Given the description of an element on the screen output the (x, y) to click on. 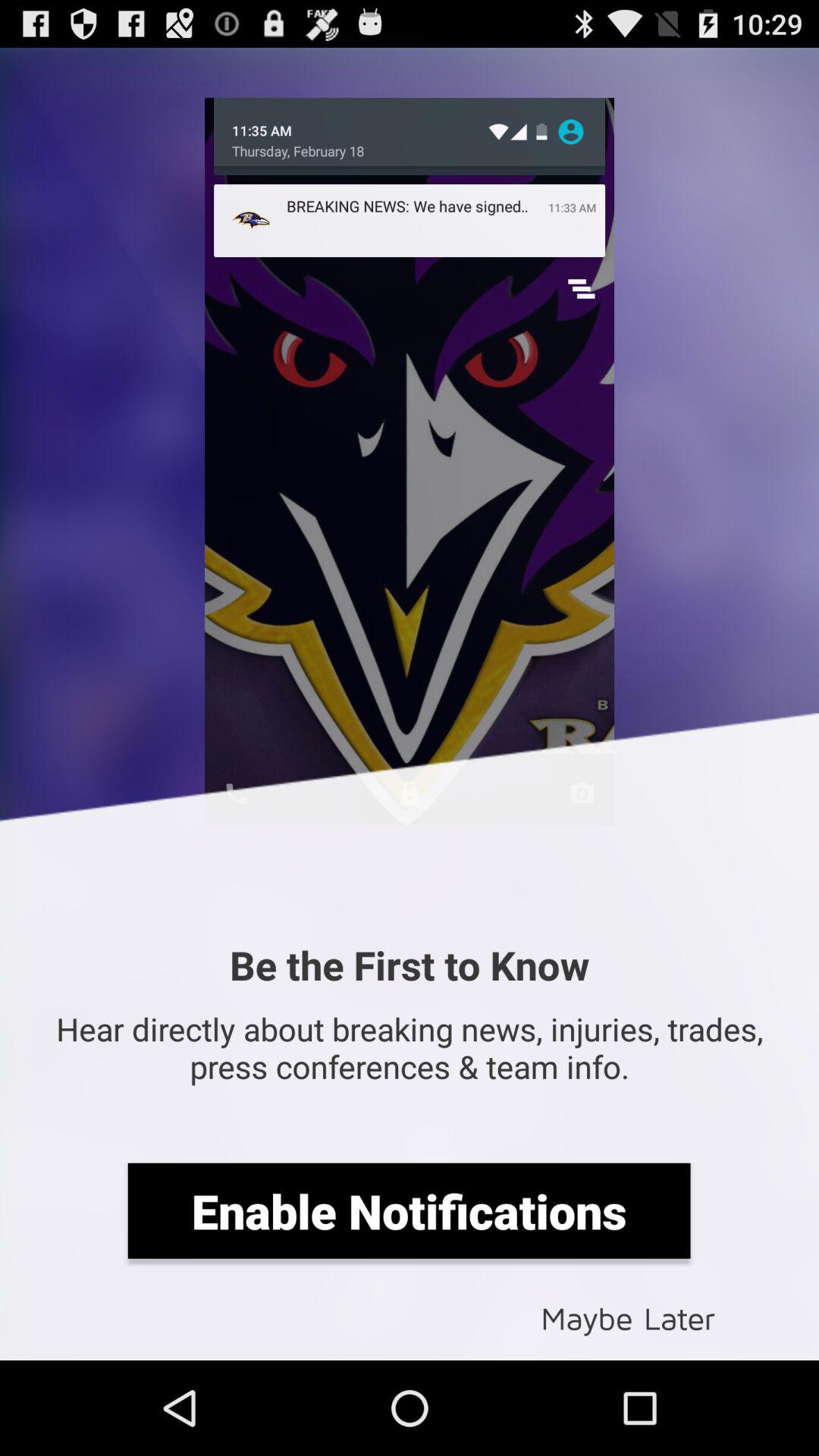
scroll to the enable notifications icon (408, 1210)
